Given the description of an element on the screen output the (x, y) to click on. 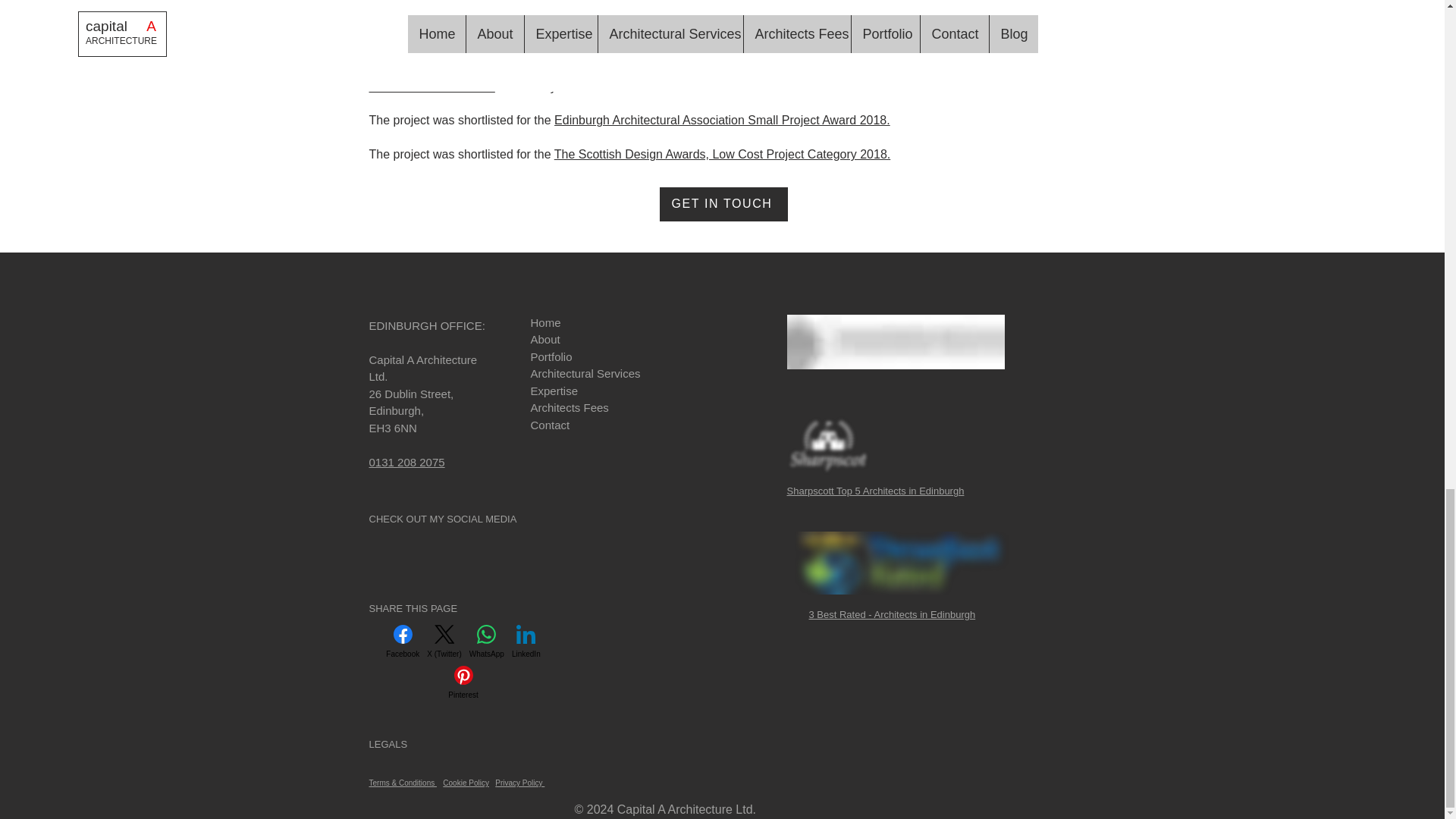
GET IN TOUCH (723, 204)
0131 208 2075 (406, 461)
RIAS chartered practice  (895, 341)
The Scottish Design Awards, Low Cost Project Category 2018. (721, 154)
one of the 100 best homes in Scotland (712, 77)
Architects Fees  (571, 407)
Sharpscott Top 5 Architects in Edinburgh (828, 445)
Expertise (554, 390)
3 best rated architects in edinburgh (900, 562)
Architectural Services (585, 373)
Portfolio (551, 356)
About  (547, 338)
Home (545, 322)
